Given the description of an element on the screen output the (x, y) to click on. 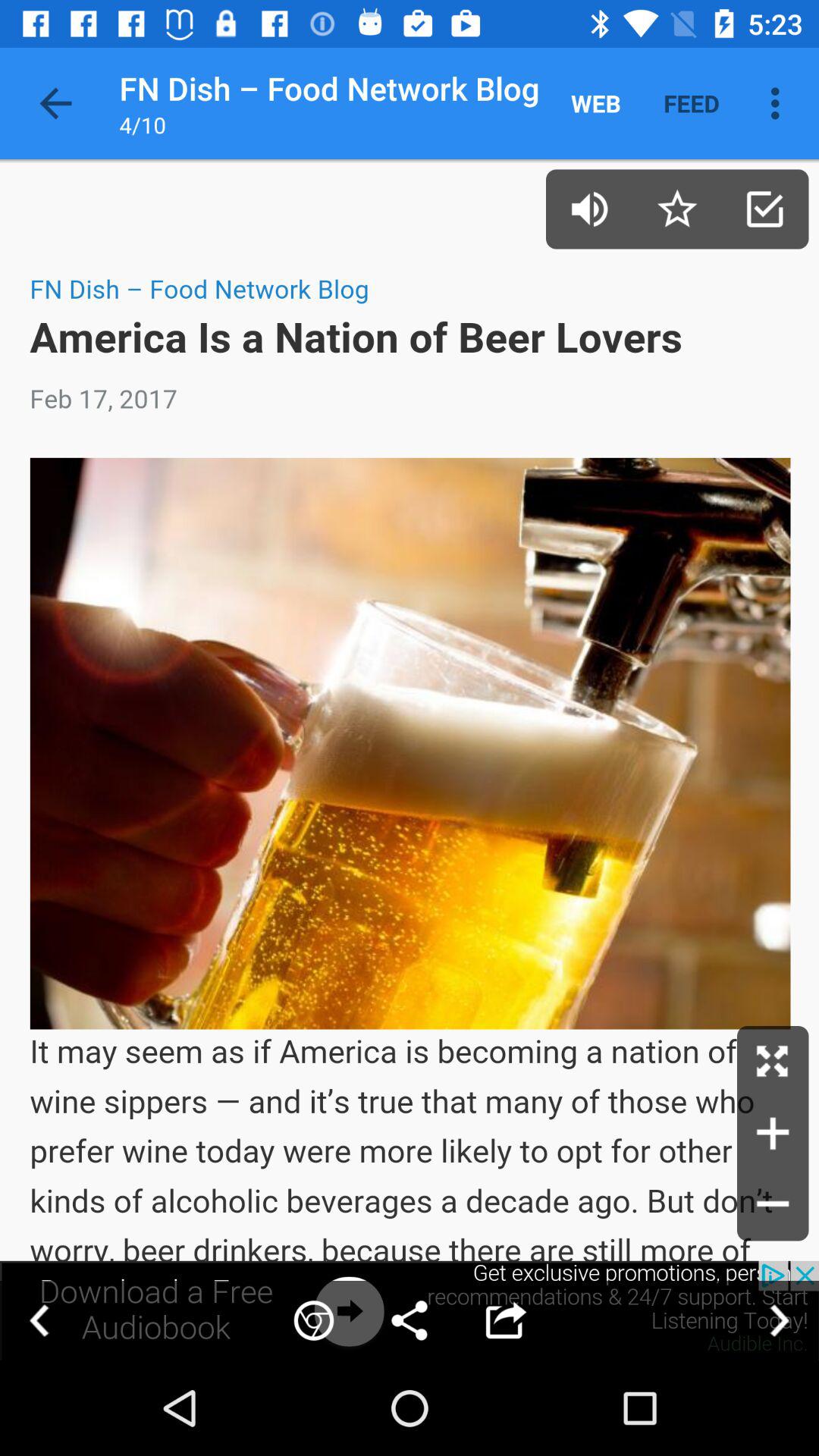
favorite this page (677, 209)
